Given the description of an element on the screen output the (x, y) to click on. 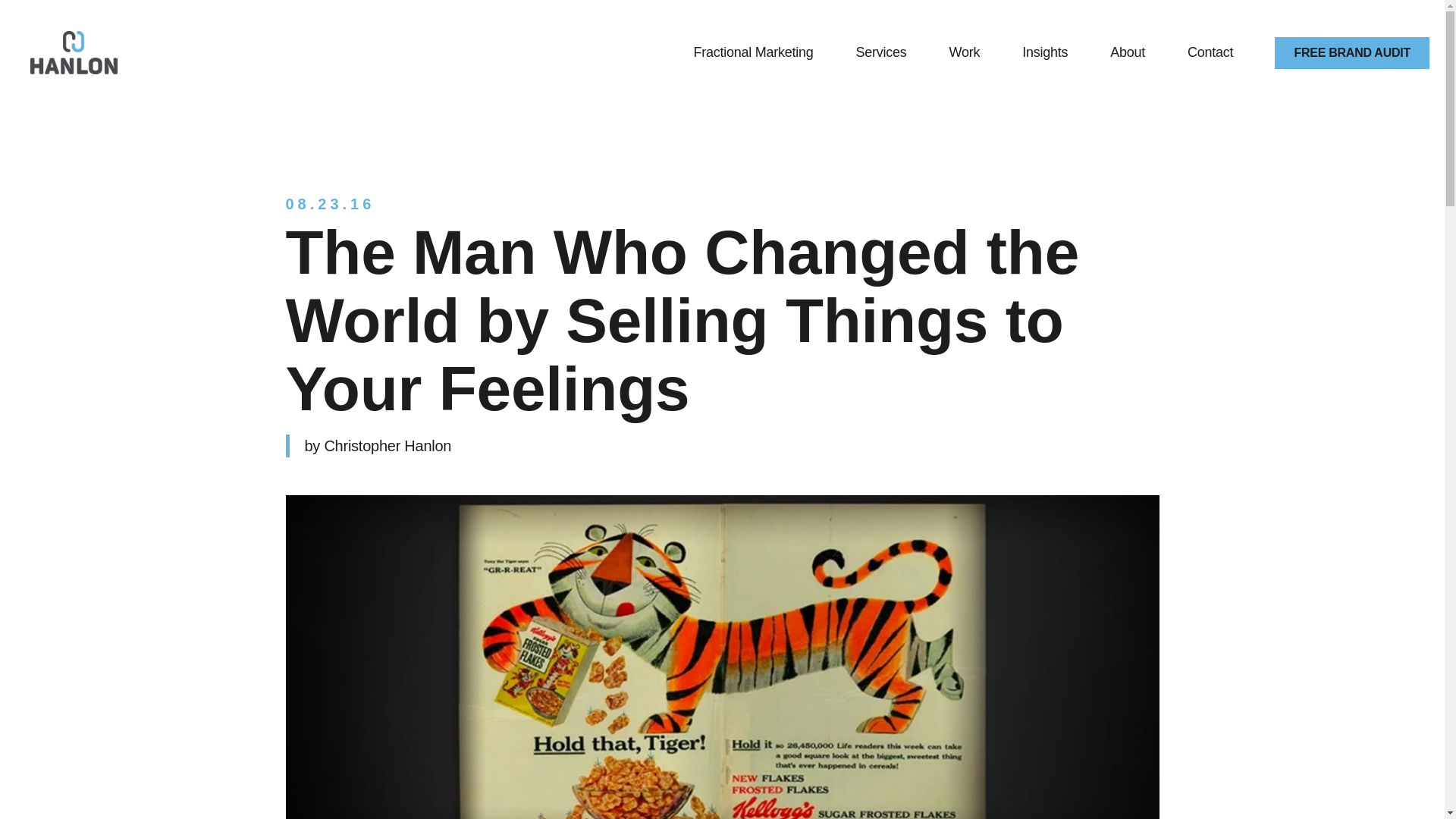
Services (881, 52)
Work (964, 52)
Fractional Marketing (752, 52)
Insights (1044, 52)
FREE BRAND AUDIT (1352, 52)
Contact (1210, 52)
About (1126, 52)
